Given the description of an element on the screen output the (x, y) to click on. 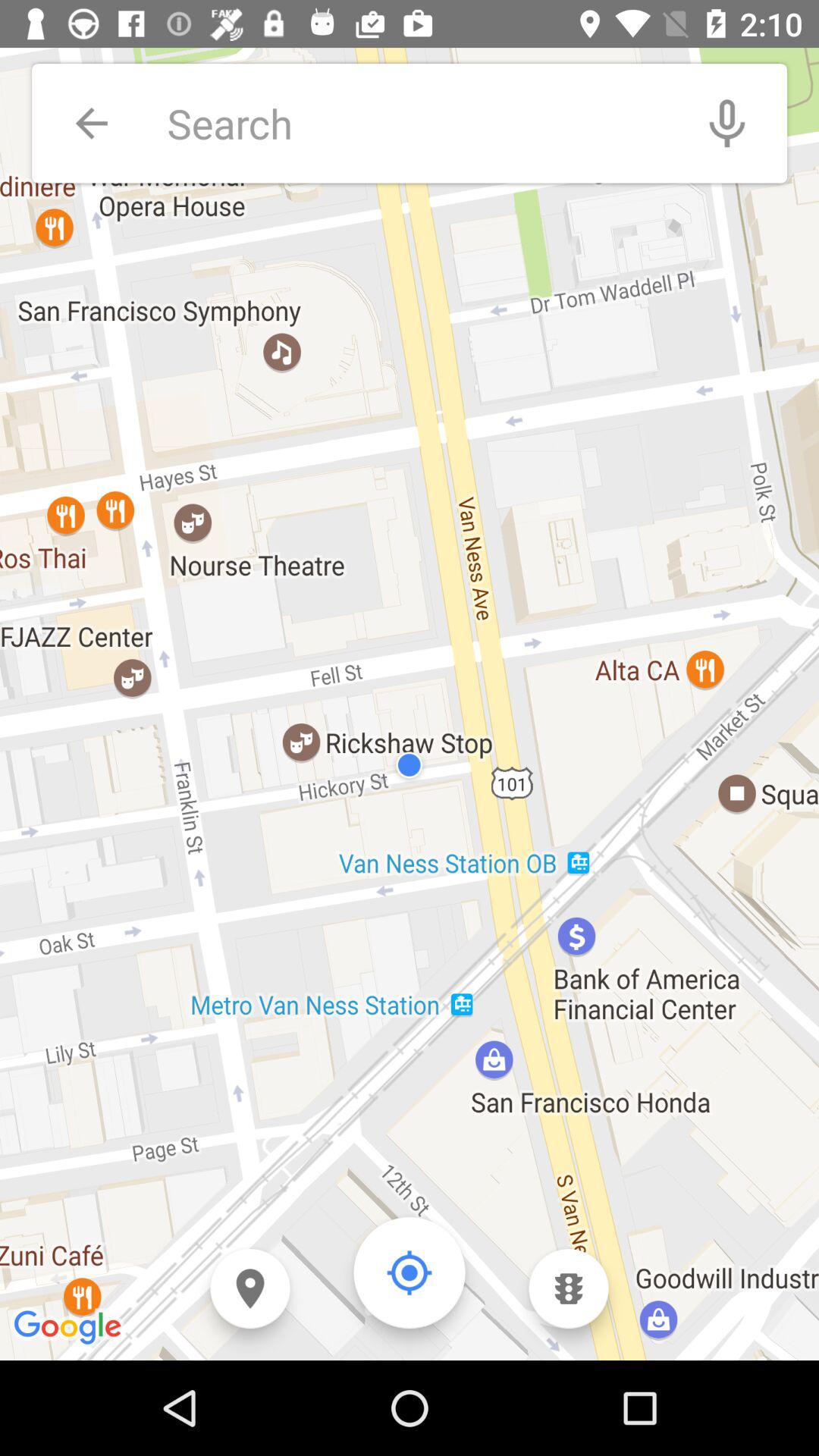
toggle traffic (568, 1288)
